Given the description of an element on the screen output the (x, y) to click on. 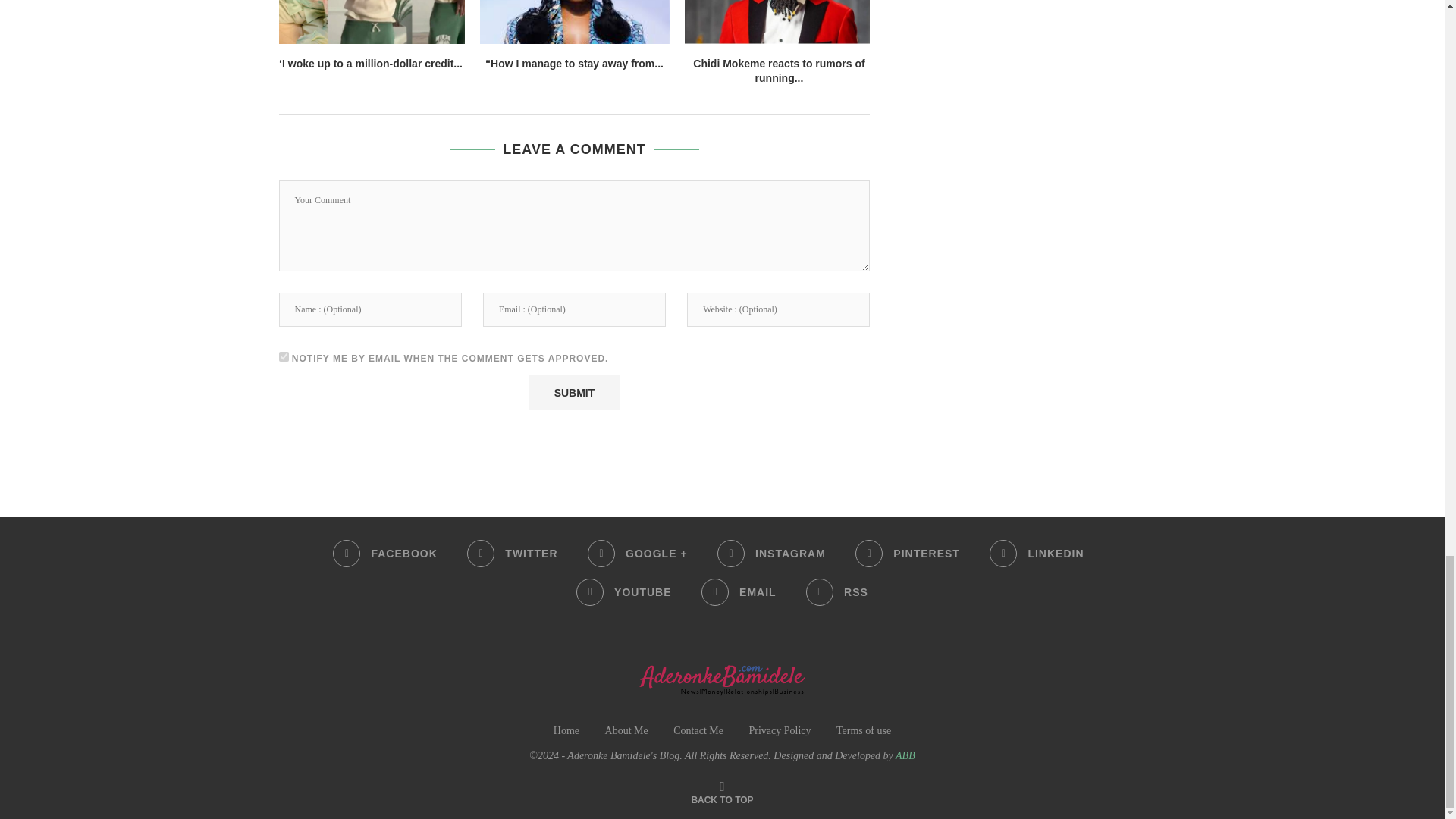
Submit (574, 392)
1 (283, 356)
